Given the description of an element on the screen output the (x, y) to click on. 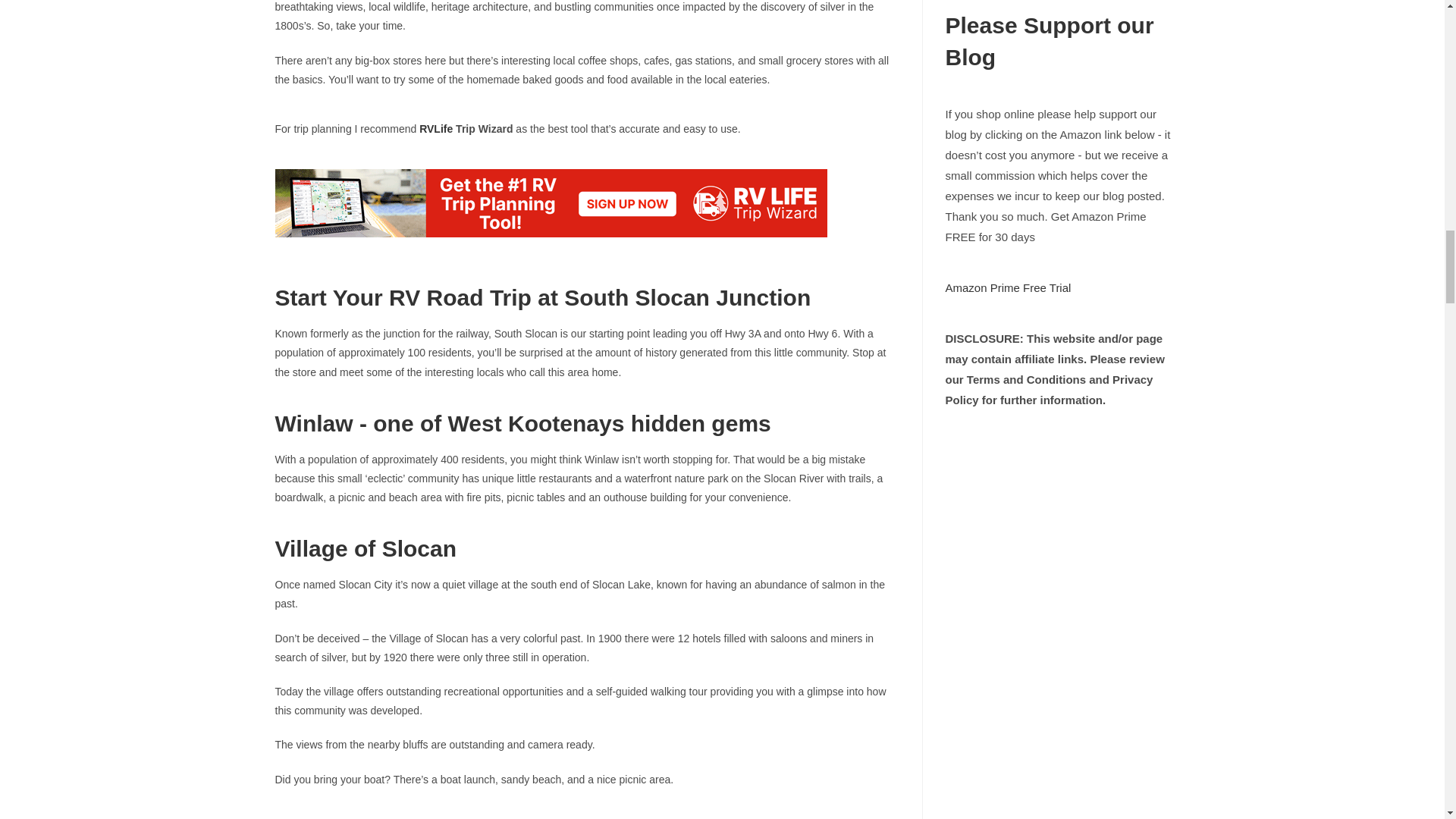
RV LIFE Trip Wizard (551, 202)
